Given the description of an element on the screen output the (x, y) to click on. 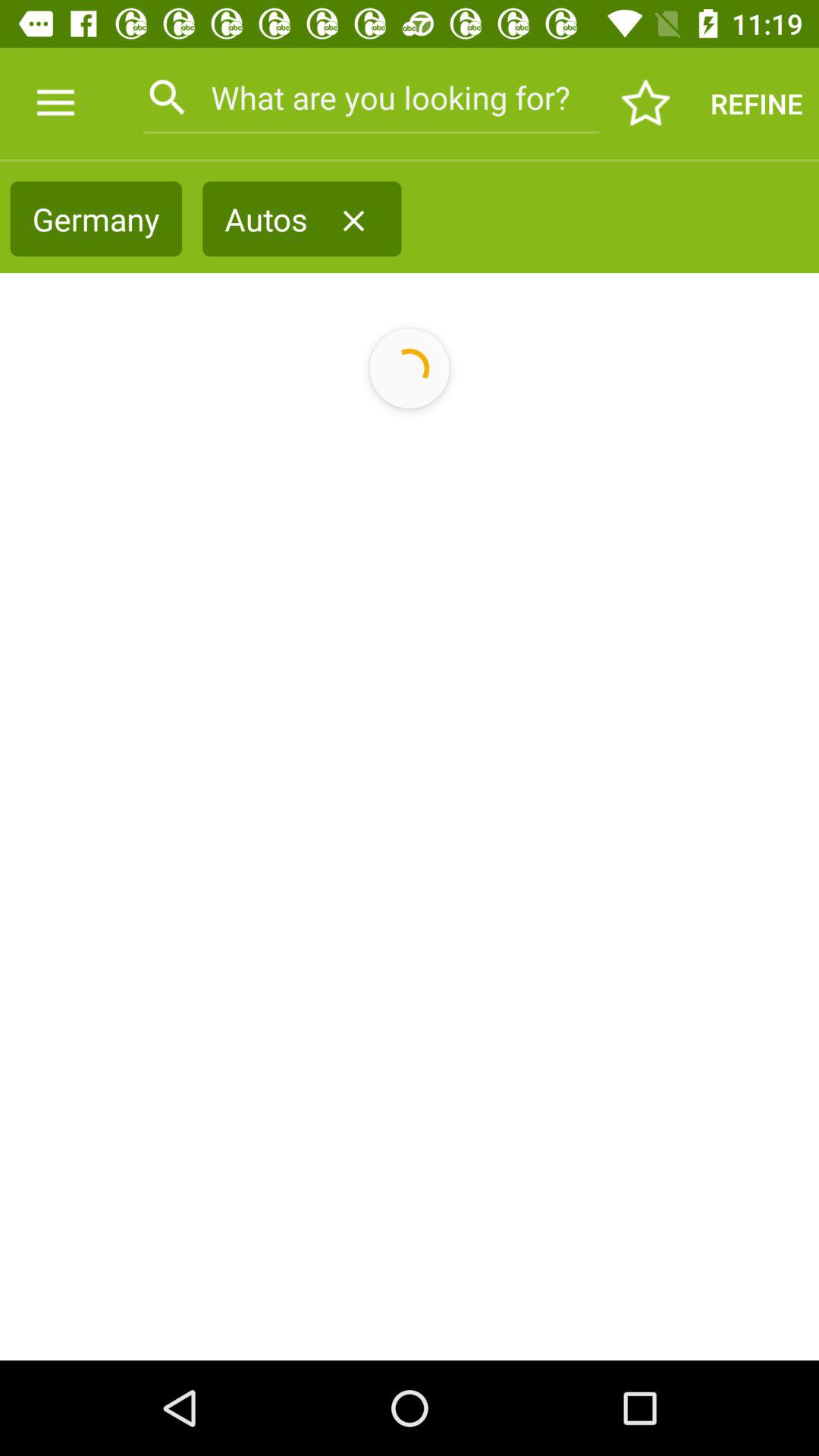
launch the icon next to the what are you (646, 103)
